Given the description of an element on the screen output the (x, y) to click on. 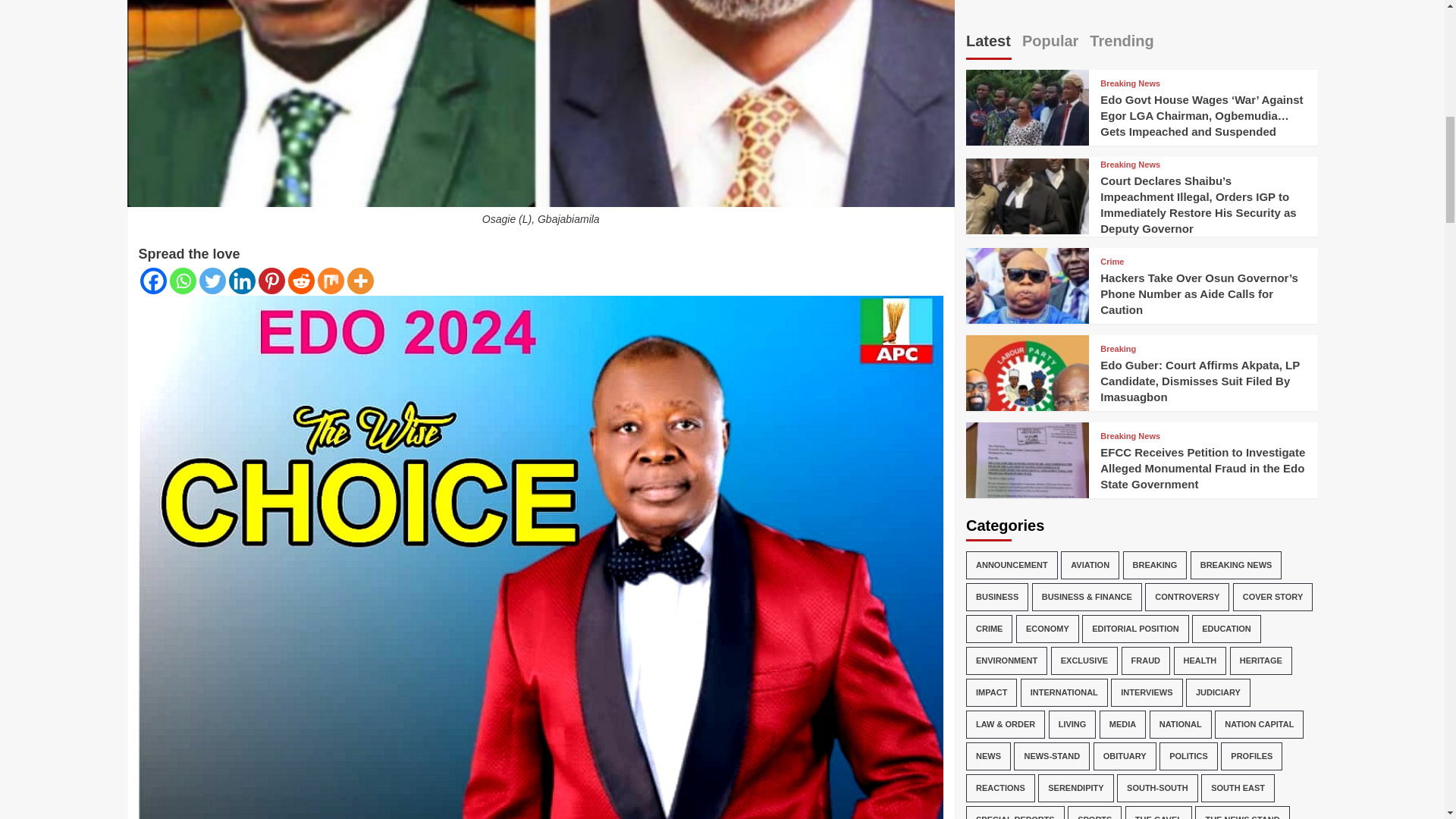
Facebook (152, 280)
Twitter (211, 280)
Pinterest (270, 280)
Mix (330, 280)
Reddit (301, 280)
Linkedin (242, 280)
More (360, 280)
Whatsapp (183, 280)
